Given the description of an element on the screen output the (x, y) to click on. 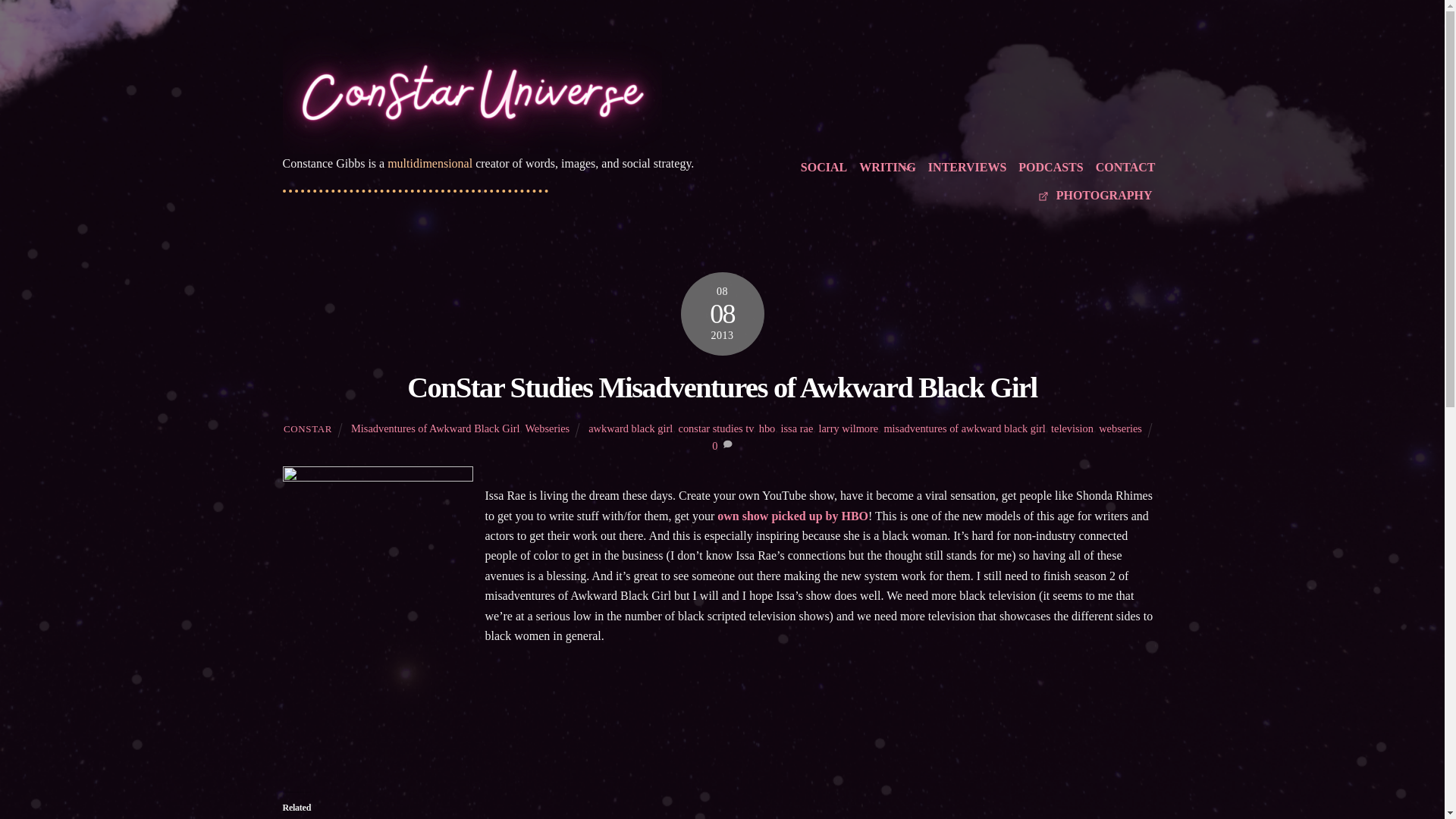
webseries (1120, 428)
issa rae (796, 428)
larry wilmore (847, 428)
constar studies tv (716, 428)
television (1072, 428)
SOCIAL (823, 167)
PHOTOGRAPHY (1094, 195)
INTERVIEWS (966, 167)
misadventures of awkward black girl (964, 428)
WRITING (887, 167)
CONTACT (1125, 167)
Issa Rae teams up with Larry Wilmore! (792, 515)
hbo (767, 428)
Misadventures of Awkward Black Girl (434, 428)
own show picked up by HBO (792, 515)
